Given the description of an element on the screen output the (x, y) to click on. 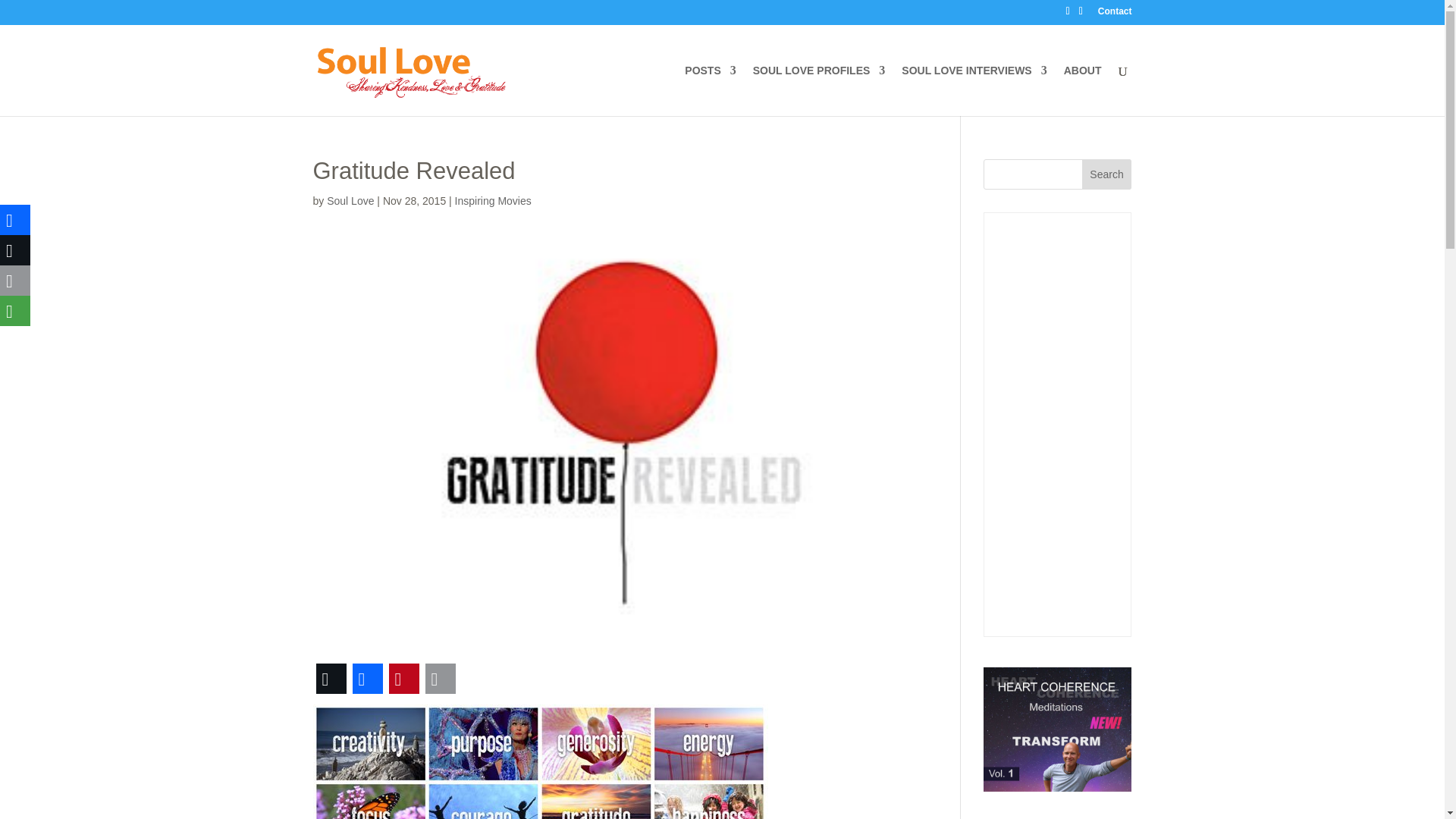
Search (1106, 173)
ABOUT (1083, 90)
Facebook (367, 678)
Posts by Soul Love (350, 200)
gratitude revealed (540, 761)
SOUL LOVE INTERVIEWS (973, 90)
SOUL LOVE PROFILES (818, 90)
Contact (1114, 14)
Pinterest (403, 678)
POSTS (709, 90)
Email This (440, 678)
